Given the description of an element on the screen output the (x, y) to click on. 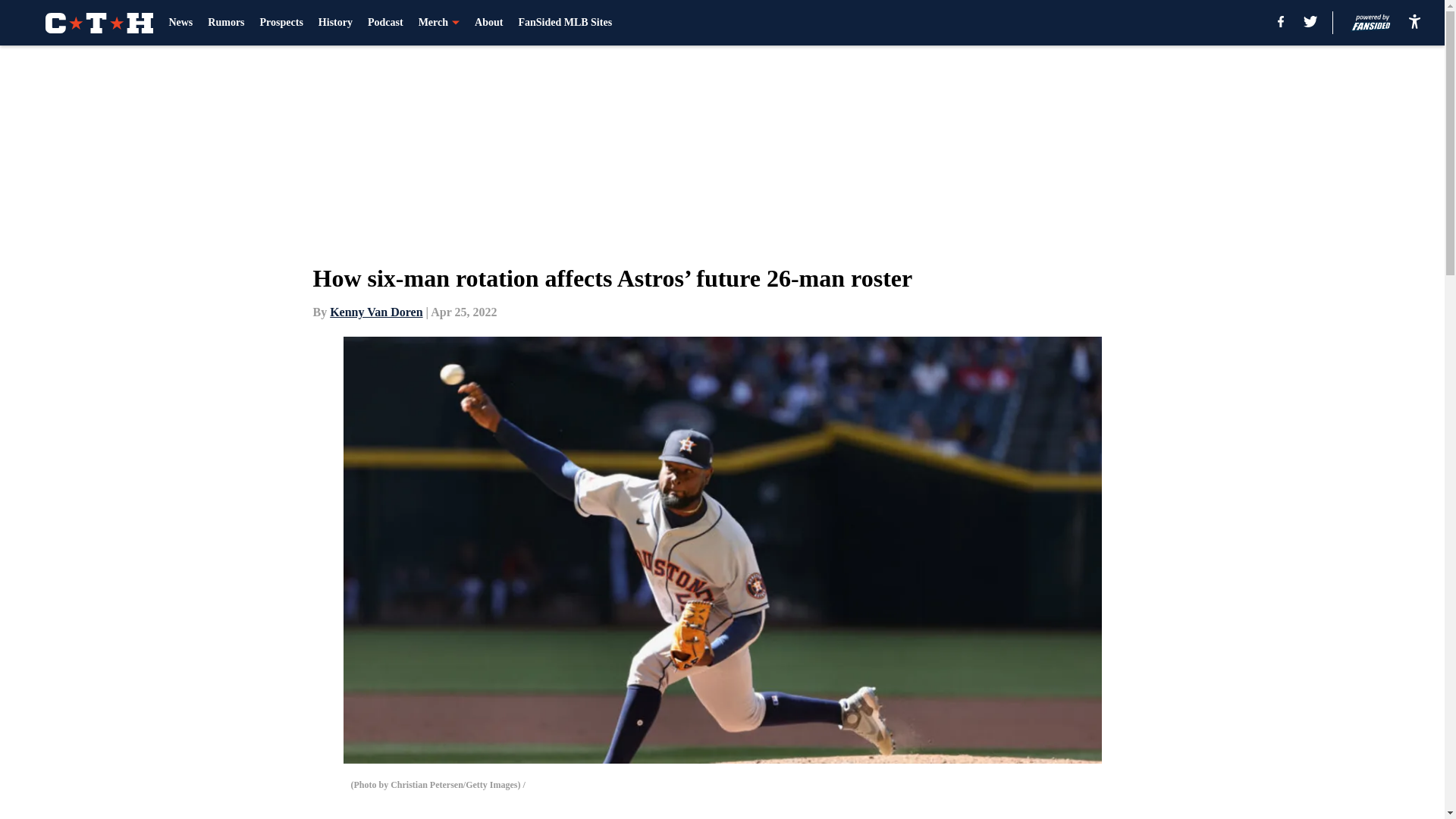
Podcast (385, 22)
News (180, 22)
FanSided MLB Sites (564, 22)
History (335, 22)
About (488, 22)
Kenny Van Doren (376, 311)
Rumors (226, 22)
Prospects (281, 22)
